Given the description of an element on the screen output the (x, y) to click on. 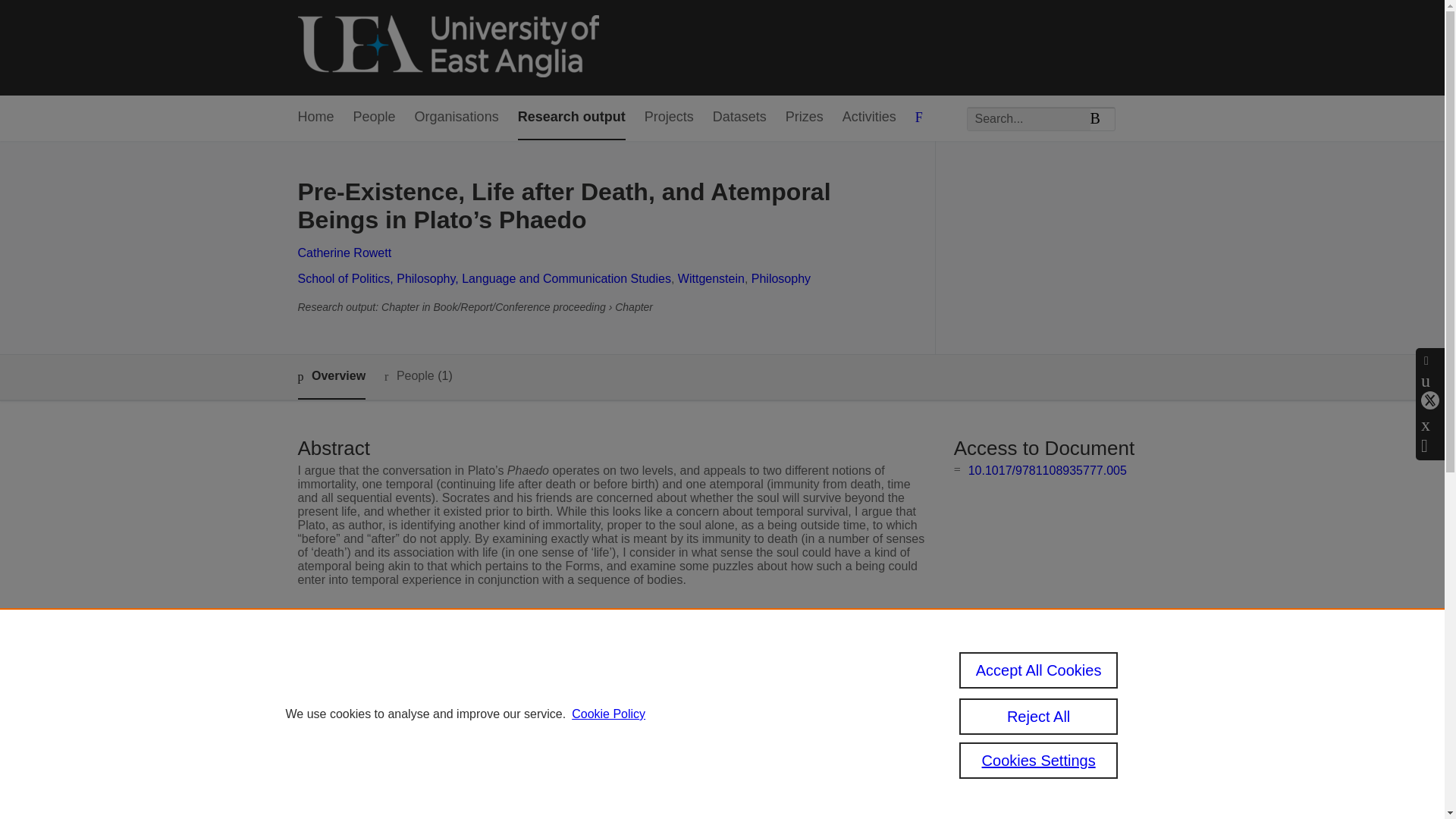
Projects (669, 117)
Cambridge University Press (584, 687)
Research output (572, 117)
Philosophy (780, 278)
Organisations (456, 117)
Wittgenstein (711, 278)
University of East Anglia Home (447, 47)
People (374, 117)
